Given the description of an element on the screen output the (x, y) to click on. 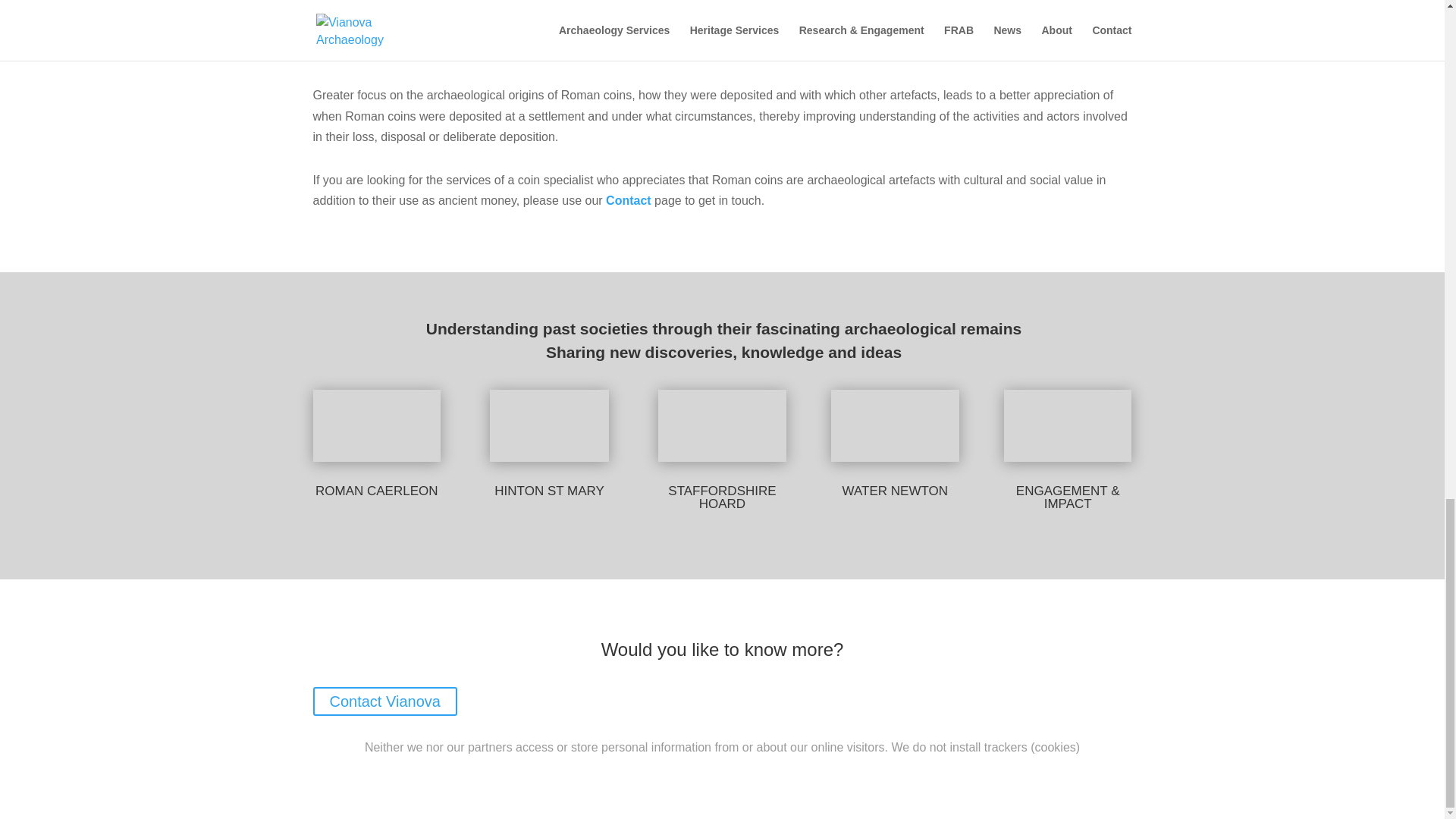
Contact Vianova (385, 701)
Contact (627, 200)
